Given the description of an element on the screen output the (x, y) to click on. 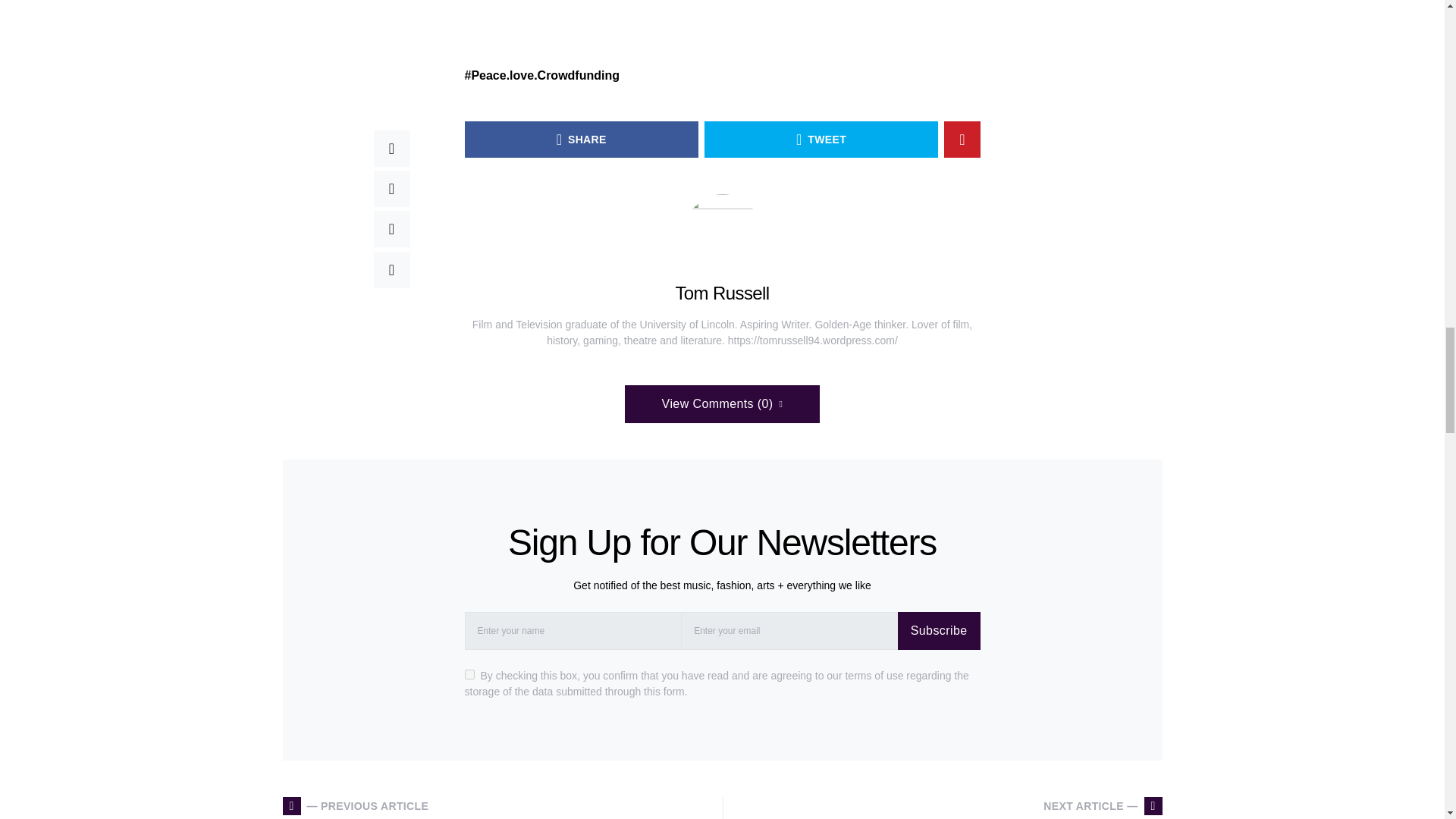
on (469, 674)
